Given the description of an element on the screen output the (x, y) to click on. 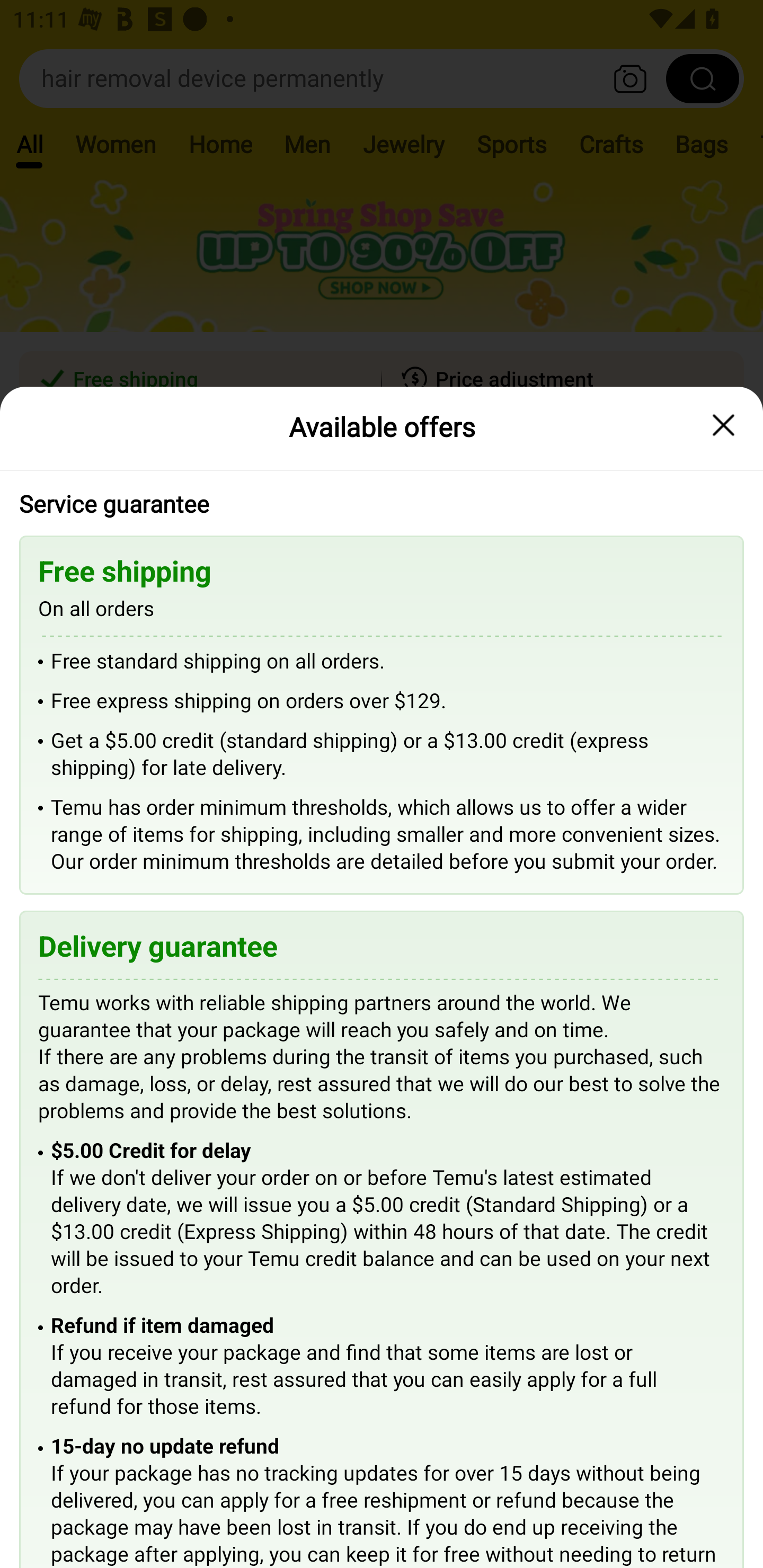
Lightning deals (379, 524)
